Given the description of an element on the screen output the (x, y) to click on. 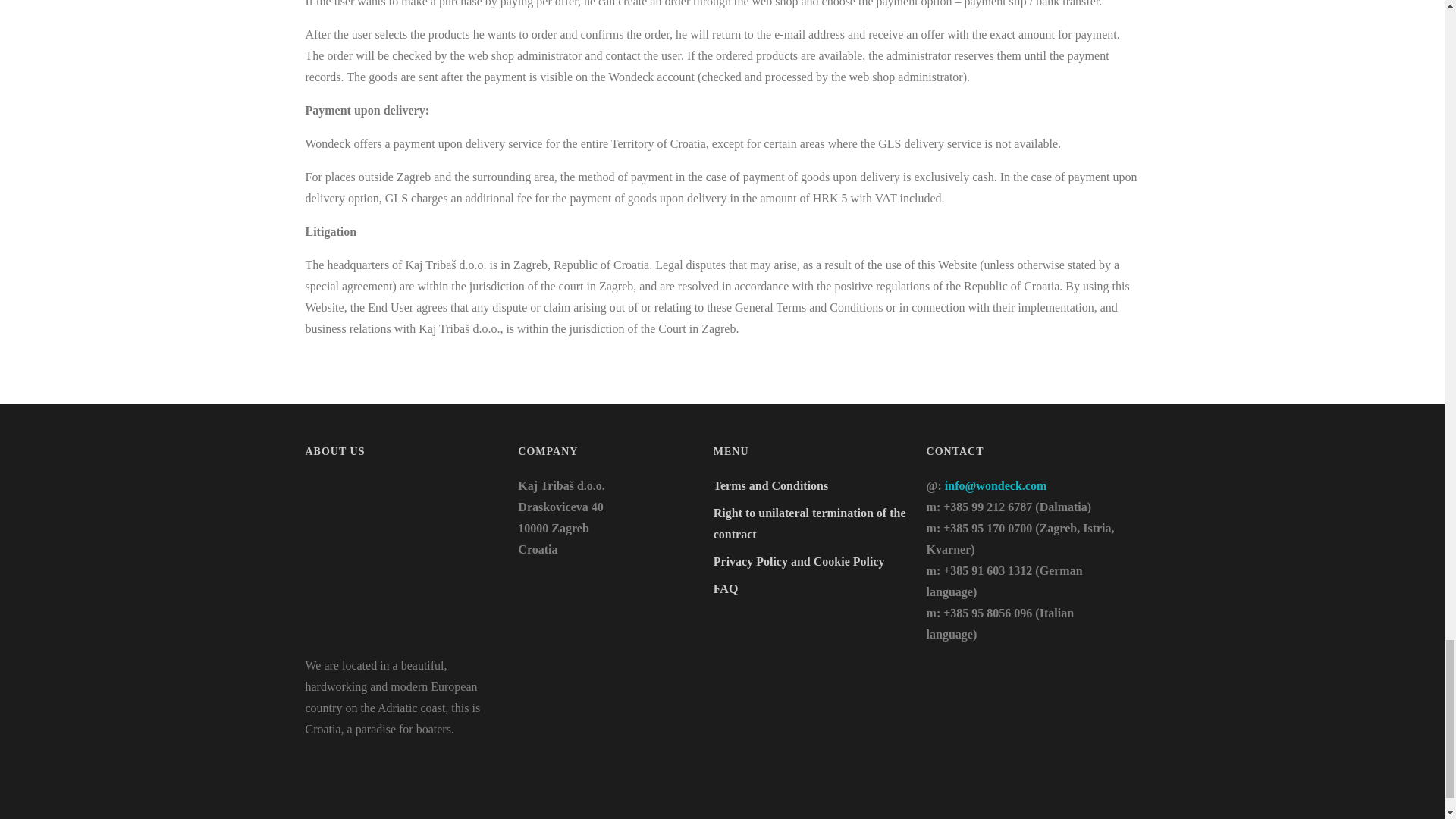
Privacy Policy and Cookie Policy (799, 561)
Terms and Conditions (770, 485)
FAQ (725, 588)
Right to unilateral termination of the contract (809, 523)
